Given the description of an element on the screen output the (x, y) to click on. 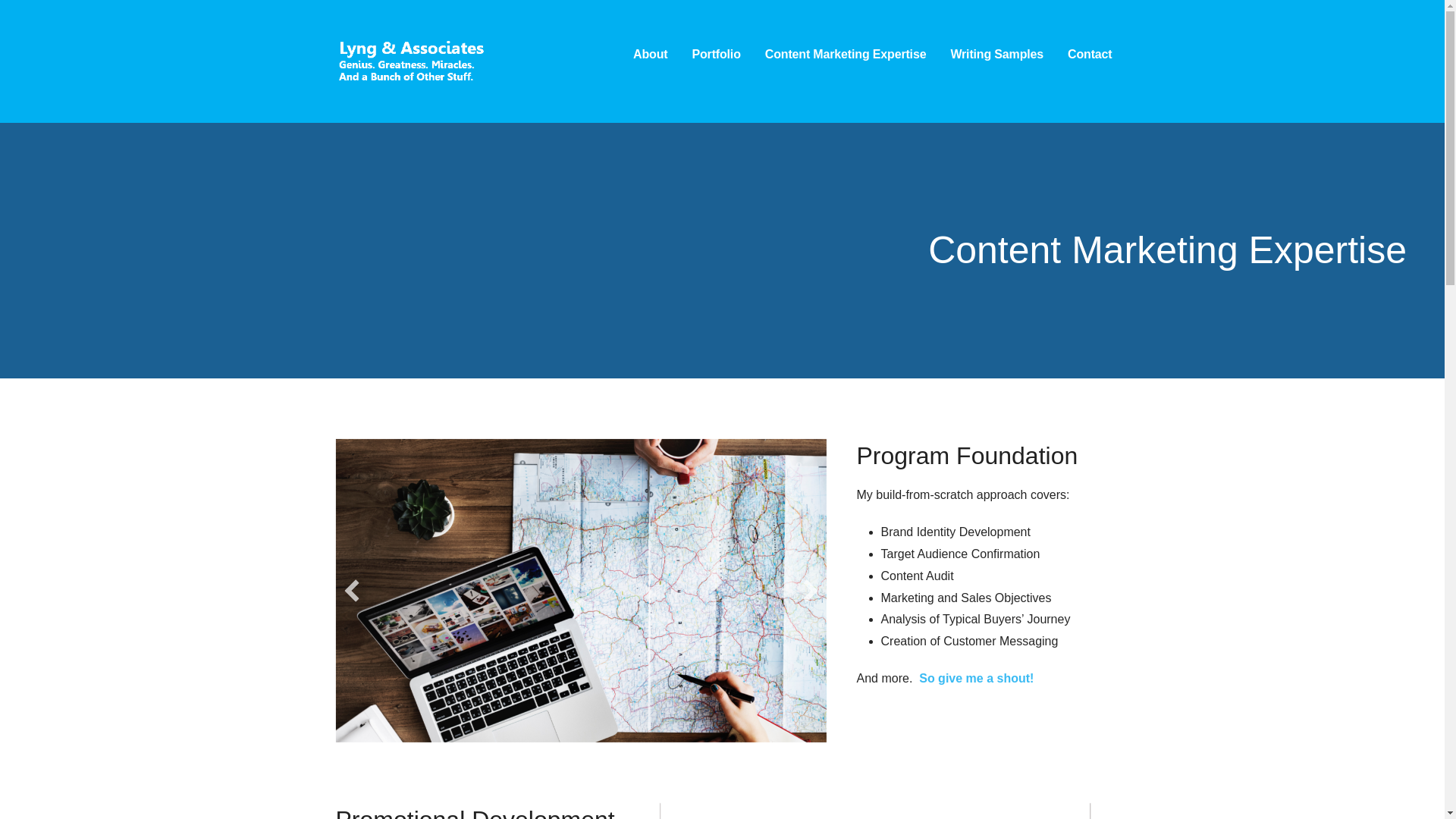
So give me a shout! (975, 677)
About (649, 55)
Content Marketing Expertise (845, 55)
Contact (1089, 55)
Writing Samples (996, 55)
Portfolio (715, 55)
